Given the description of an element on the screen output the (x, y) to click on. 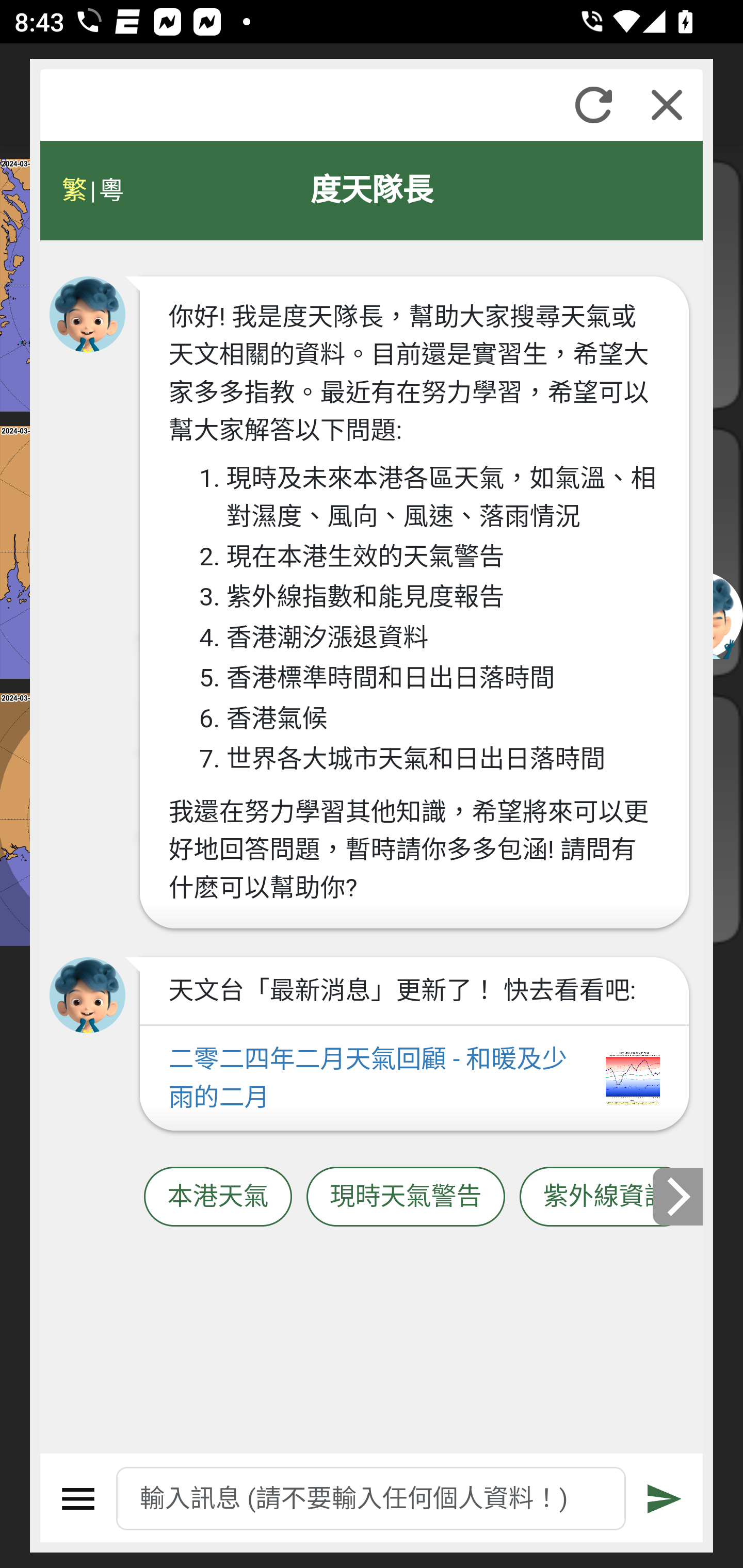
重新整理 (593, 104)
關閉 (666, 104)
繁 (73, 190)
粵 (110, 190)
二零二四年二月天氣回顧 - 和暖及少雨的二月 (413, 1078)
本港天氣 (217, 1196)
現時天氣警告 (405, 1196)
紫外線資訊 (605, 1196)
下一張 (678, 1196)
選單 (78, 1498)
遞交 (665, 1498)
